Given the description of an element on the screen output the (x, y) to click on. 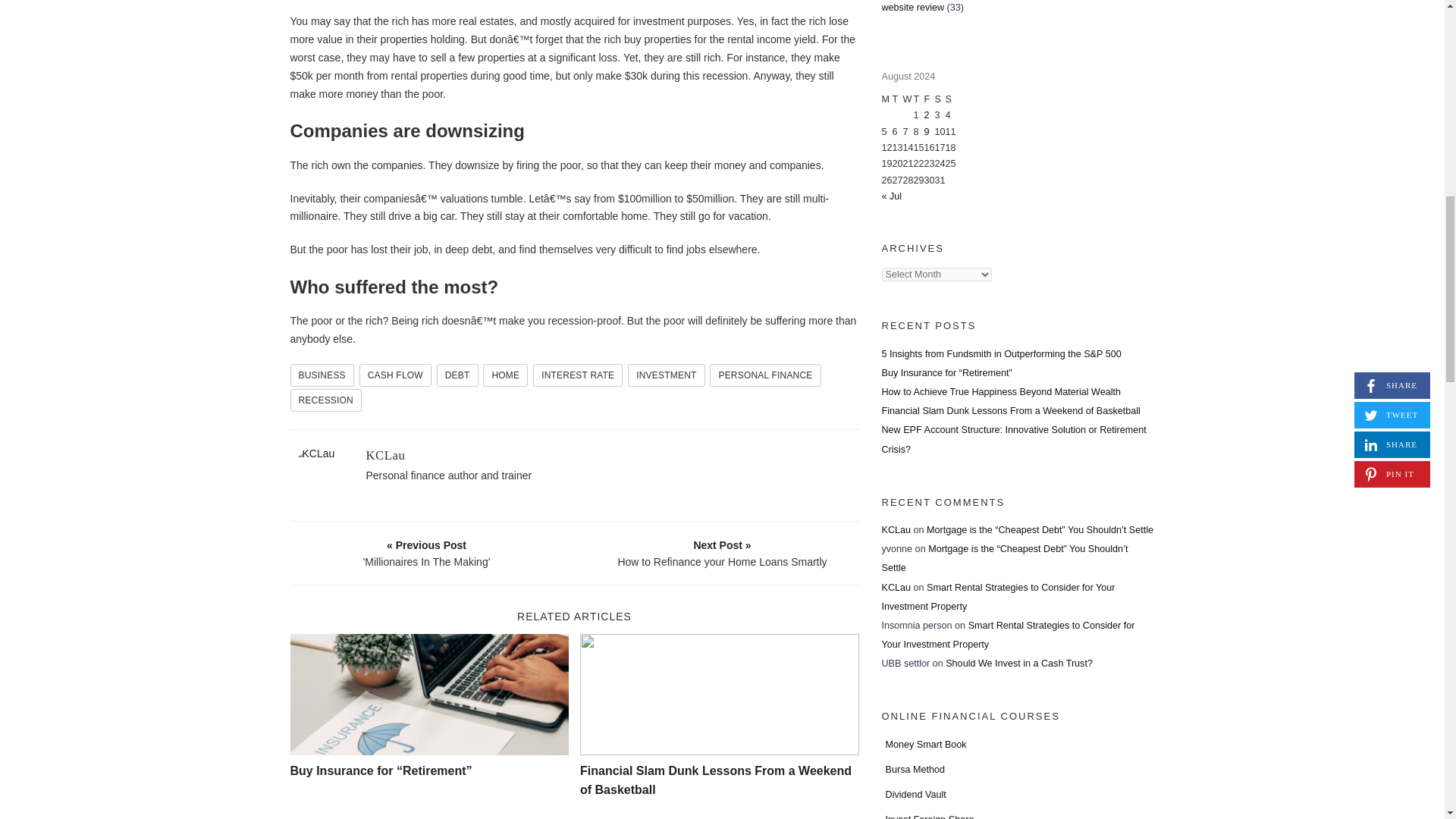
Interest rate Tag (577, 374)
personal finance Tag (765, 374)
'Millionaires In The Making' (427, 553)
INTEREST RATE (577, 374)
RECESSION (325, 400)
recession Tag (325, 400)
debt Tag (457, 374)
KCLau (384, 454)
cash flow Tag (394, 374)
HOME (505, 374)
